Given the description of an element on the screen output the (x, y) to click on. 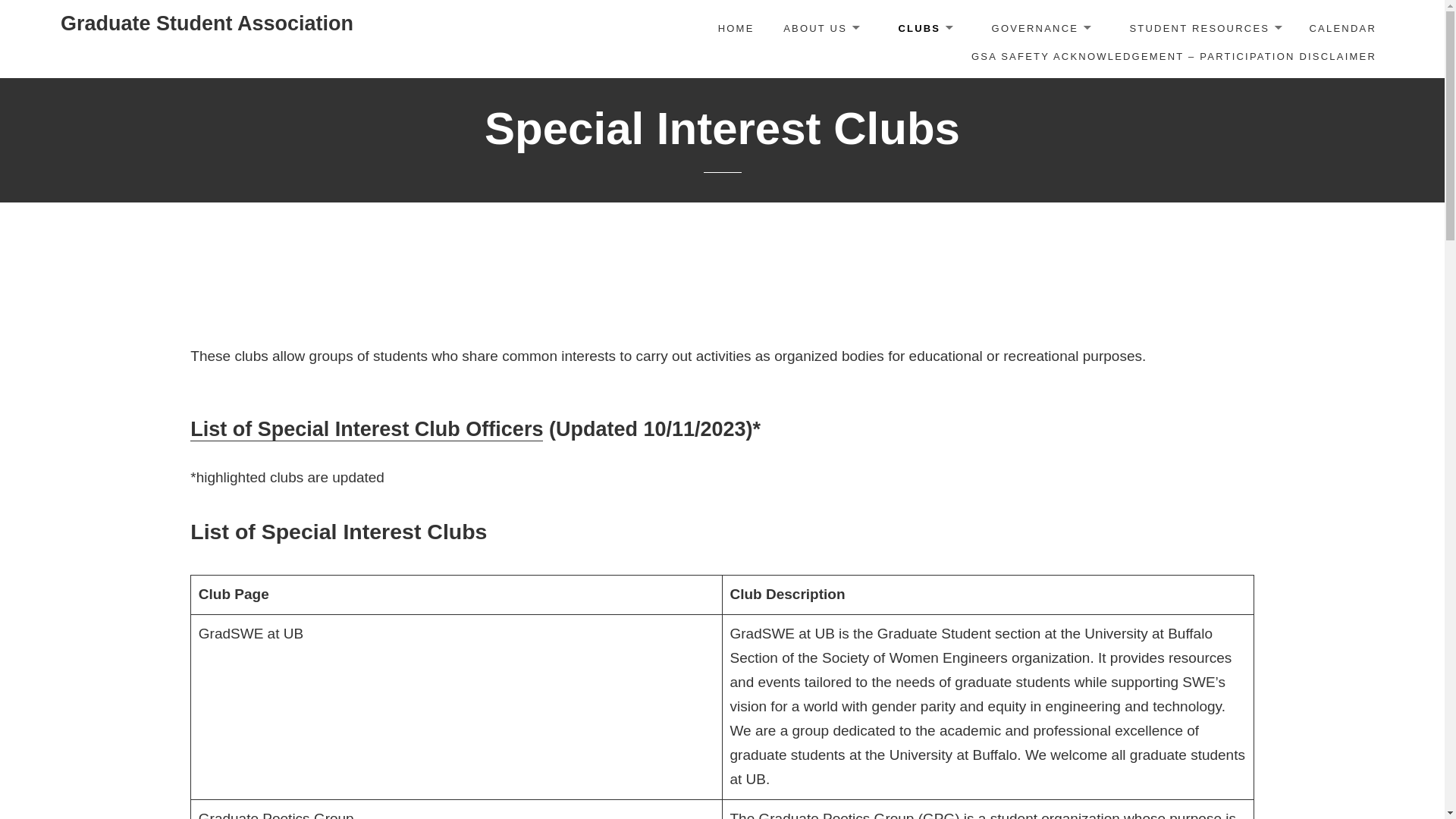
List of Special Interest Club Officers (366, 429)
STUDENT RESOURCES (1204, 29)
GOVERNANCE (1039, 29)
Graduate Student Association (207, 24)
CLUBS (924, 29)
HOME (735, 29)
ABOUT US (820, 29)
CALENDAR (1341, 29)
